Given the description of an element on the screen output the (x, y) to click on. 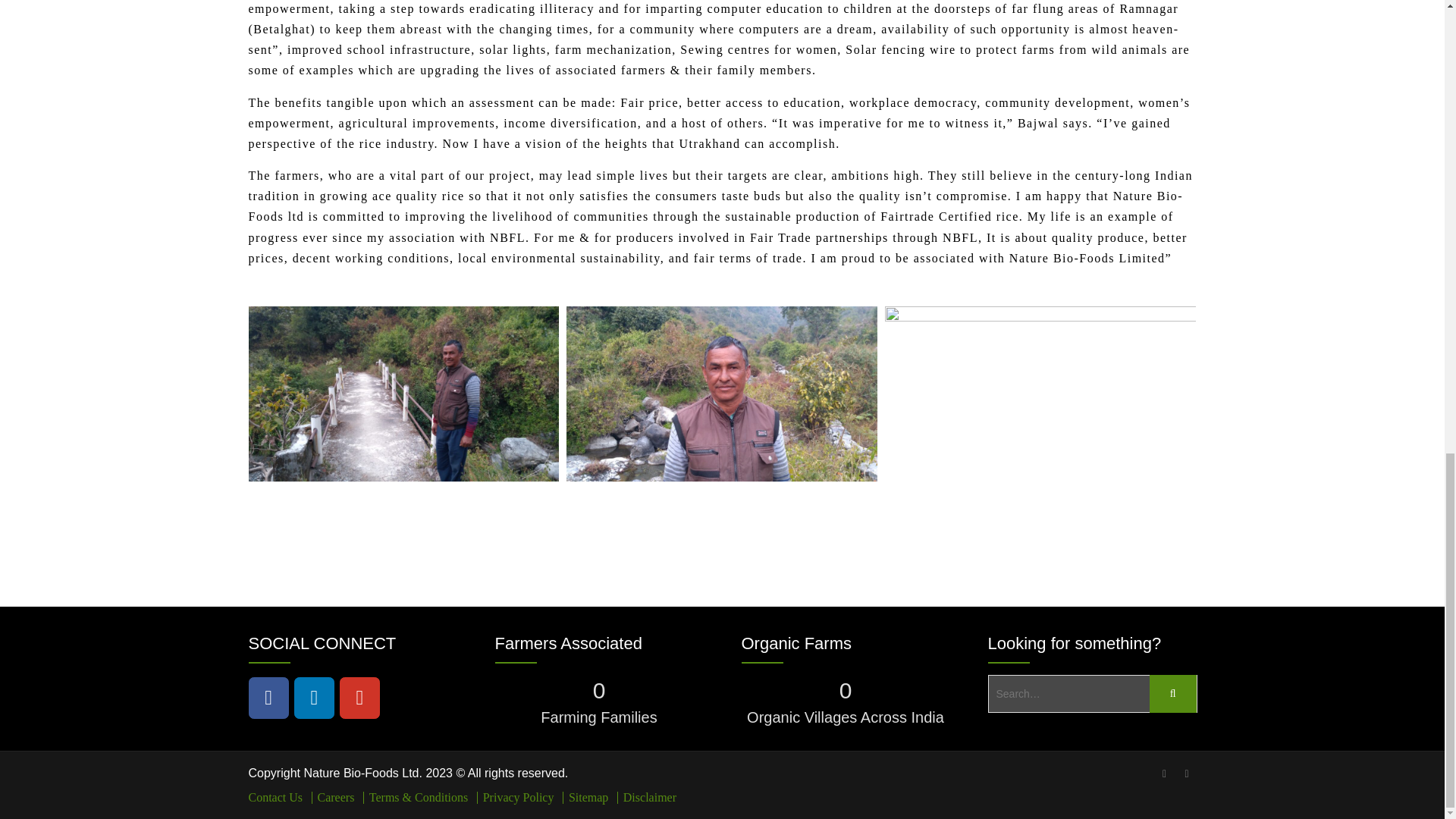
Nature Bio Foods on Youtube (359, 698)
Fb (268, 698)
Search for: (1091, 693)
ln (314, 698)
